Given the description of an element on the screen output the (x, y) to click on. 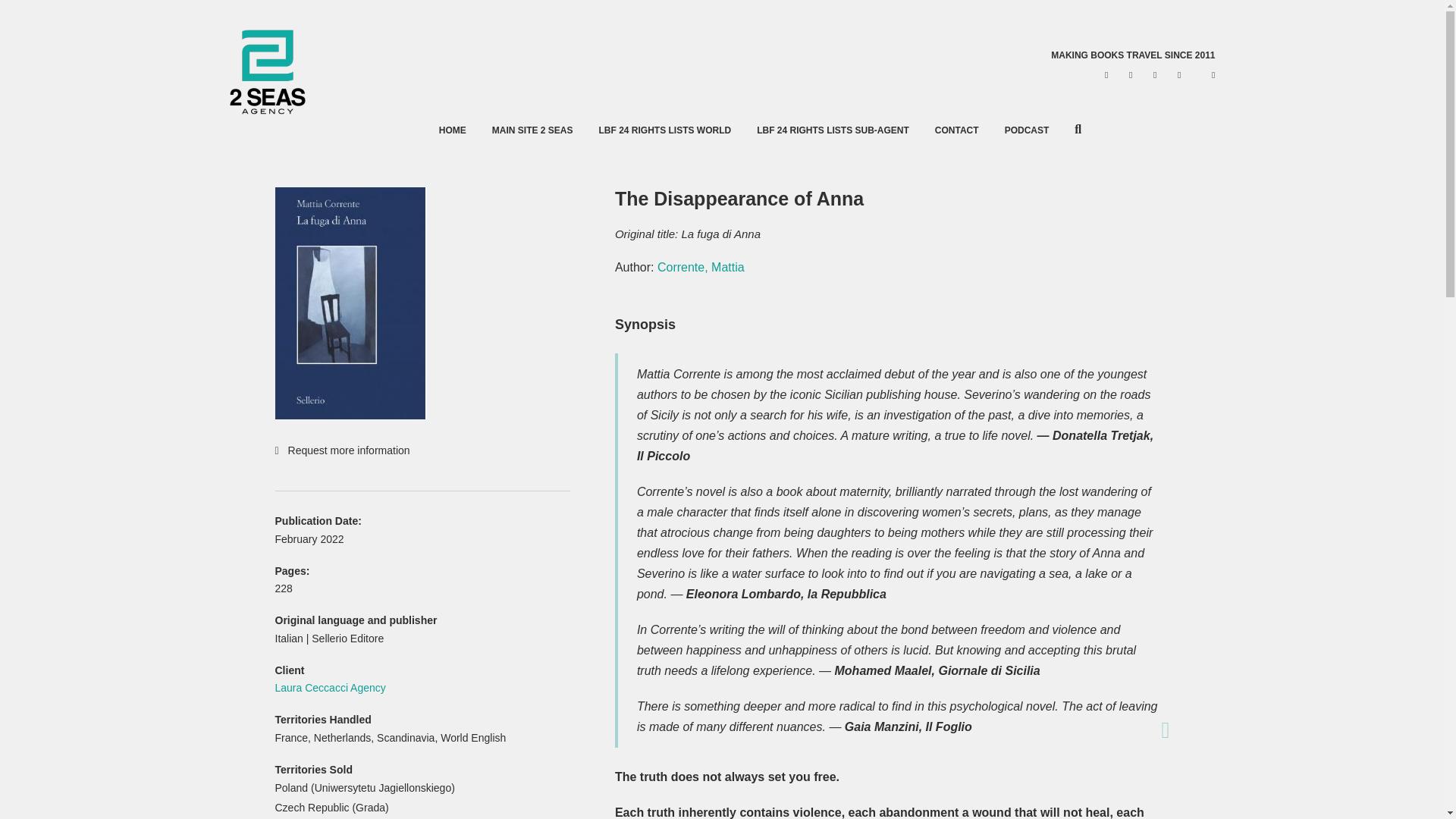
Request more information (422, 450)
LBF 24 RIGHTS LISTS SUB-AGENT (832, 130)
Laura Ceccacci Agency (330, 687)
MAIN SITE 2 SEAS (532, 130)
PODCAST (1026, 130)
LBF 24 RIGHTS LISTS WORLD (664, 130)
CONTACT (956, 130)
Corrente, Mattia (701, 267)
